Given the description of an element on the screen output the (x, y) to click on. 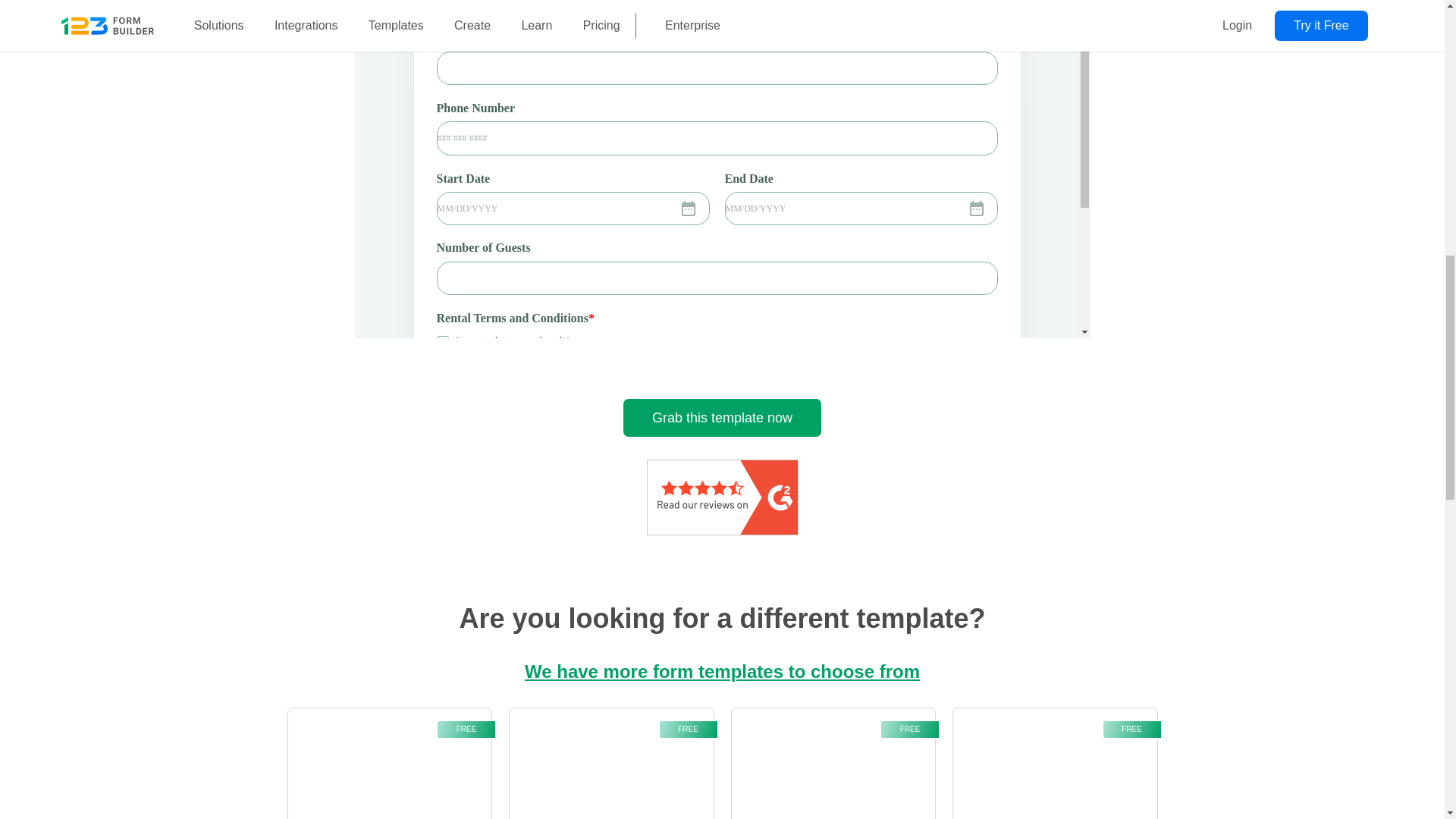
Read reviews of 123 Form Builder on G2 (721, 499)
